Given the description of an element on the screen output the (x, y) to click on. 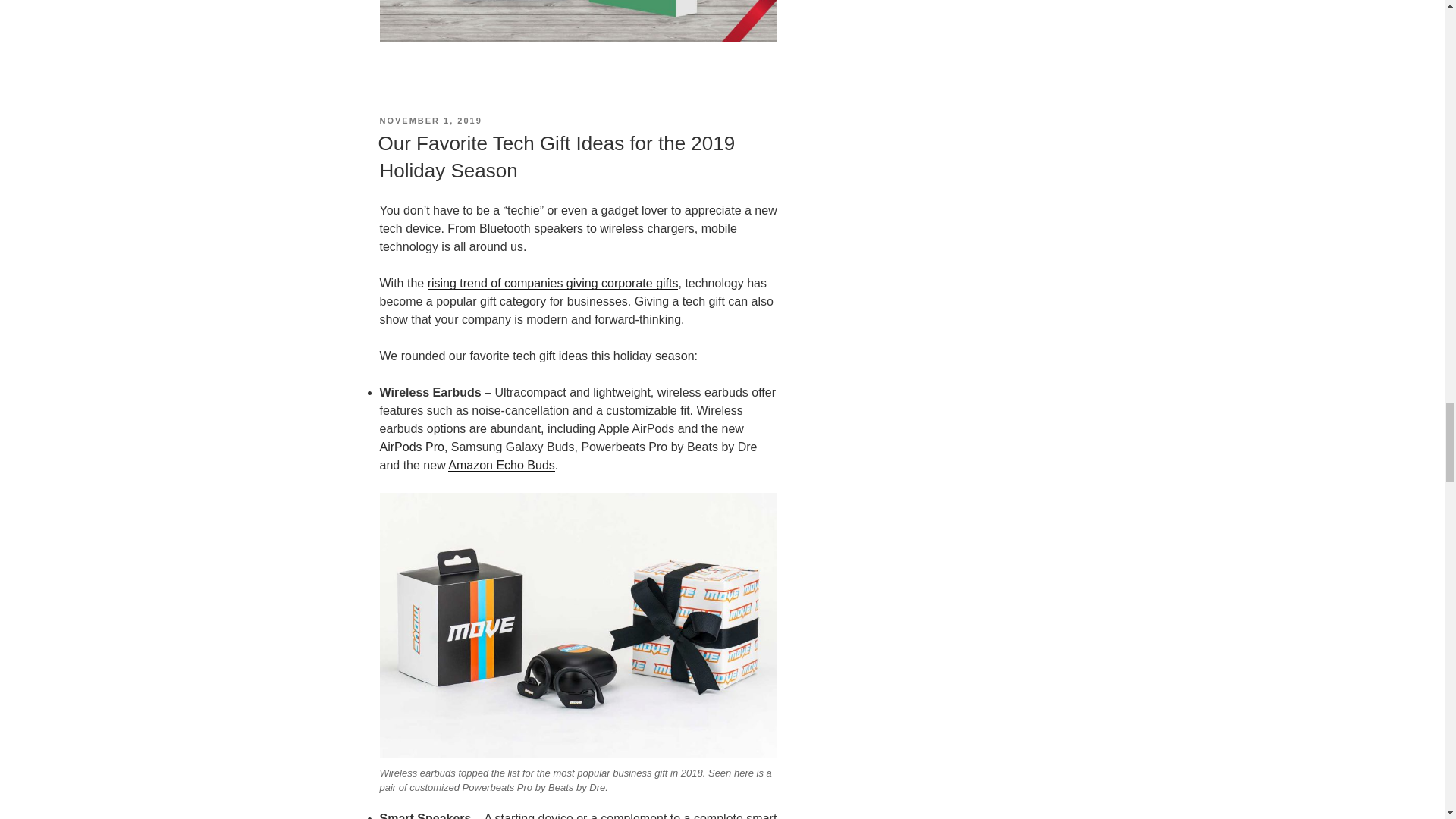
rising trend of companies giving corporate gifts (553, 282)
Our Favorite Tech Gift Ideas for the 2019 Holiday Season (556, 156)
AirPods Pro (411, 446)
Amazon Echo Buds (501, 464)
NOVEMBER 1, 2019 (429, 120)
